Given the description of an element on the screen output the (x, y) to click on. 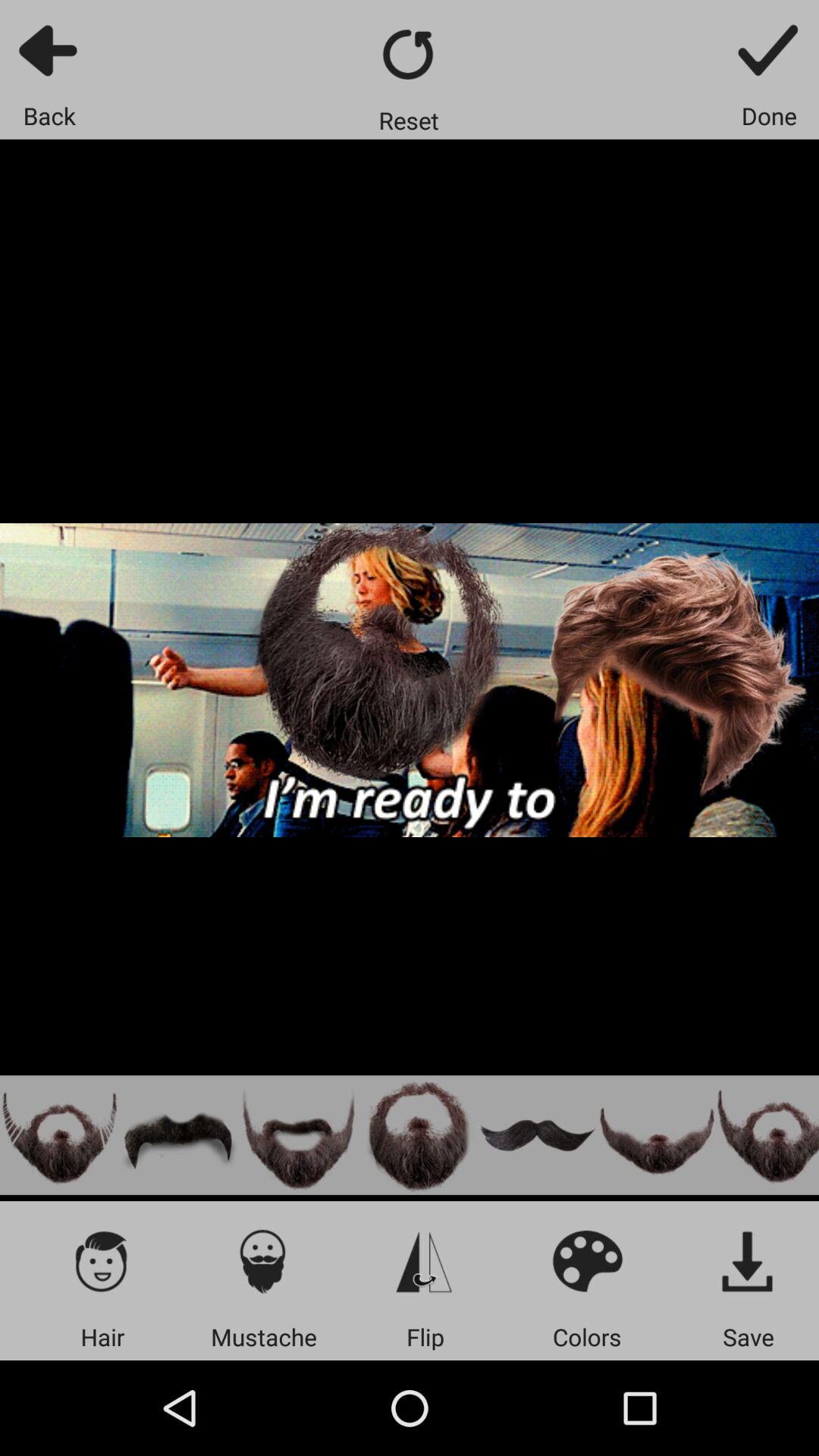
select color (586, 1260)
